Given the description of an element on the screen output the (x, y) to click on. 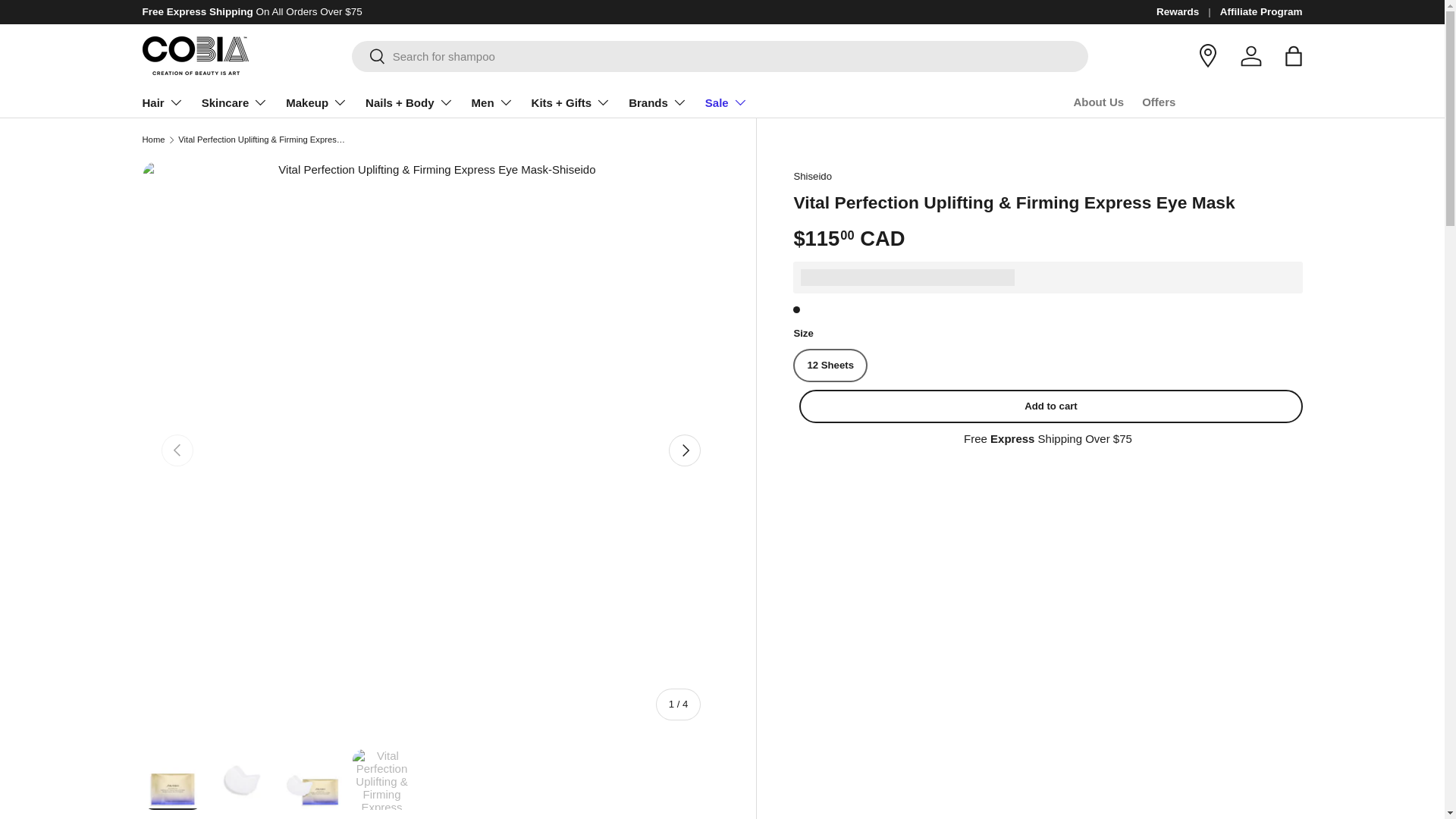
Hair (162, 101)
Rewards (1188, 11)
Search (368, 57)
Skip to content (69, 21)
Affiliate Program (1261, 11)
Log in (1251, 55)
Bag (1293, 55)
